Given the description of an element on the screen output the (x, y) to click on. 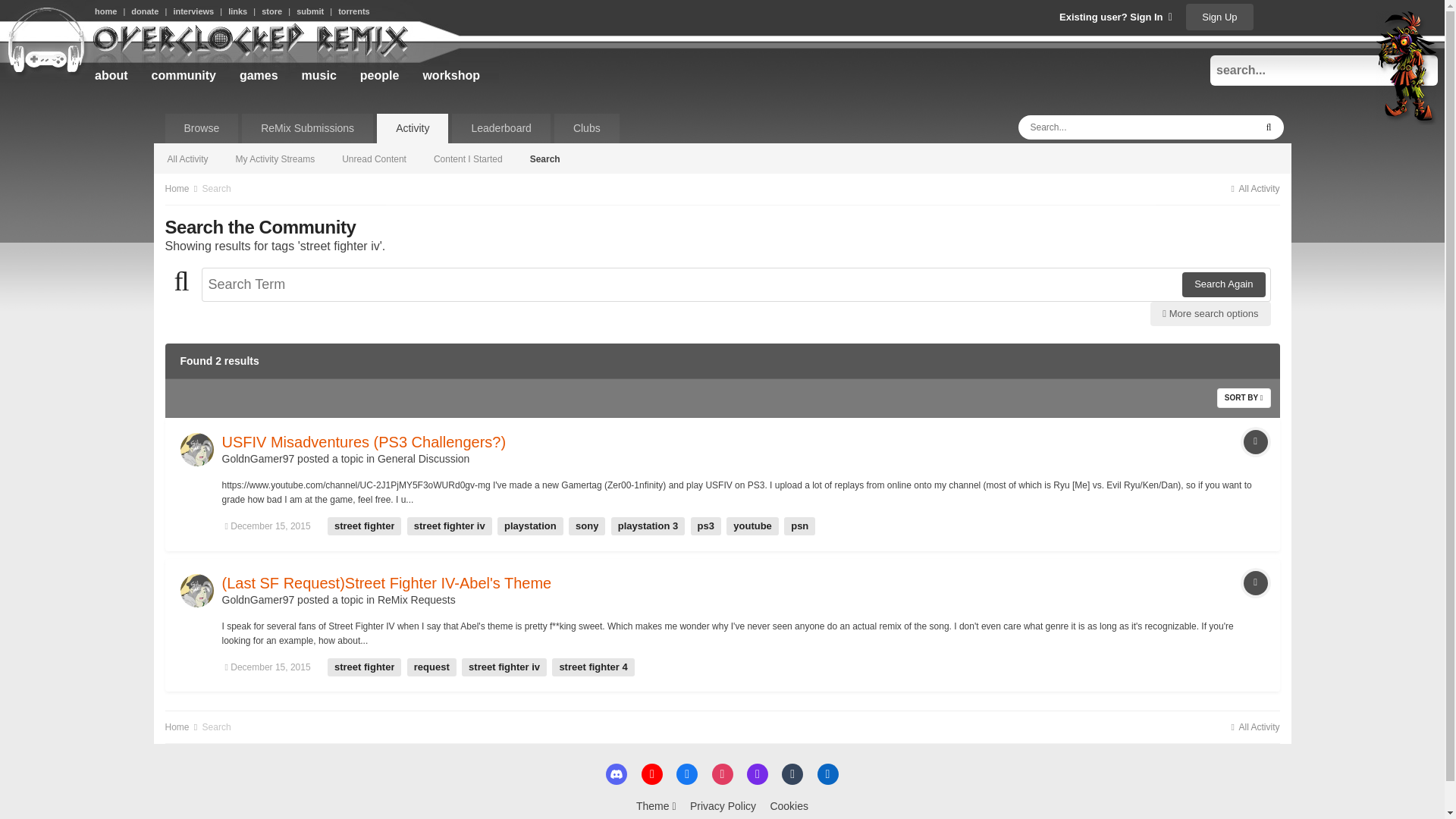
Search (216, 188)
Go to GoldnGamer97's profile (197, 449)
Browse (201, 128)
Search Again (1223, 283)
Go to GoldnGamer97's profile (257, 599)
All Activity (1253, 188)
Topic (1255, 441)
Find other content tagged with 'ps3' (705, 525)
Leaderboard (500, 128)
Activity (412, 128)
Go to GoldnGamer97's profile (257, 458)
Find other content tagged with 'sony' (587, 525)
Find other content tagged with 'psn' (799, 525)
Go to GoldnGamer97's profile (197, 590)
Unread Content (374, 157)
